Given the description of an element on the screen output the (x, y) to click on. 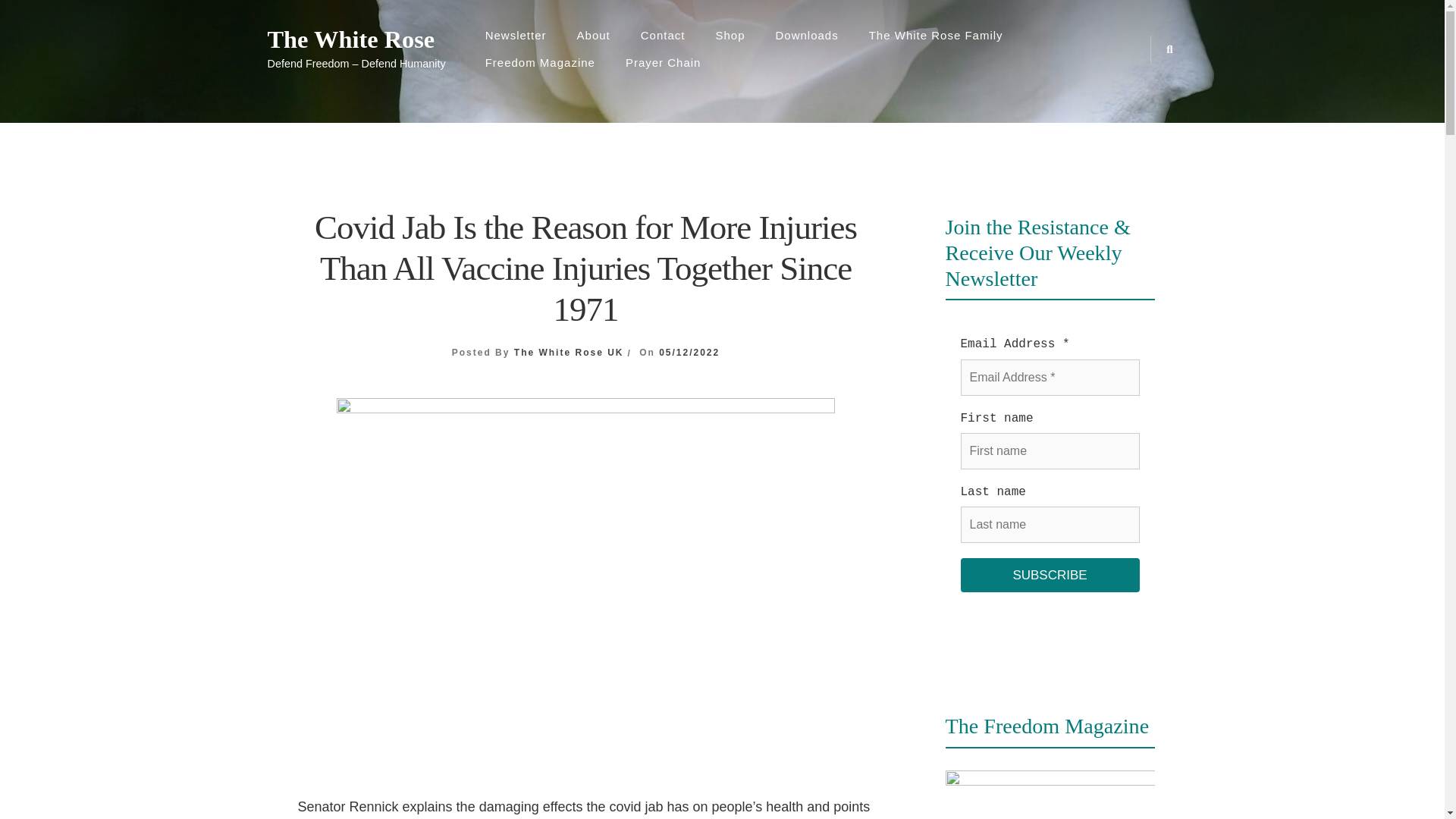
Search (752, 429)
The Freedom Magazine (1049, 794)
Subscribe (1048, 574)
The White Rose (355, 39)
Prayer Chain (663, 62)
Newsletter (516, 35)
Shop (730, 35)
The White Rose Family (935, 35)
Subscribe (1048, 574)
First name (1048, 451)
